Given the description of an element on the screen output the (x, y) to click on. 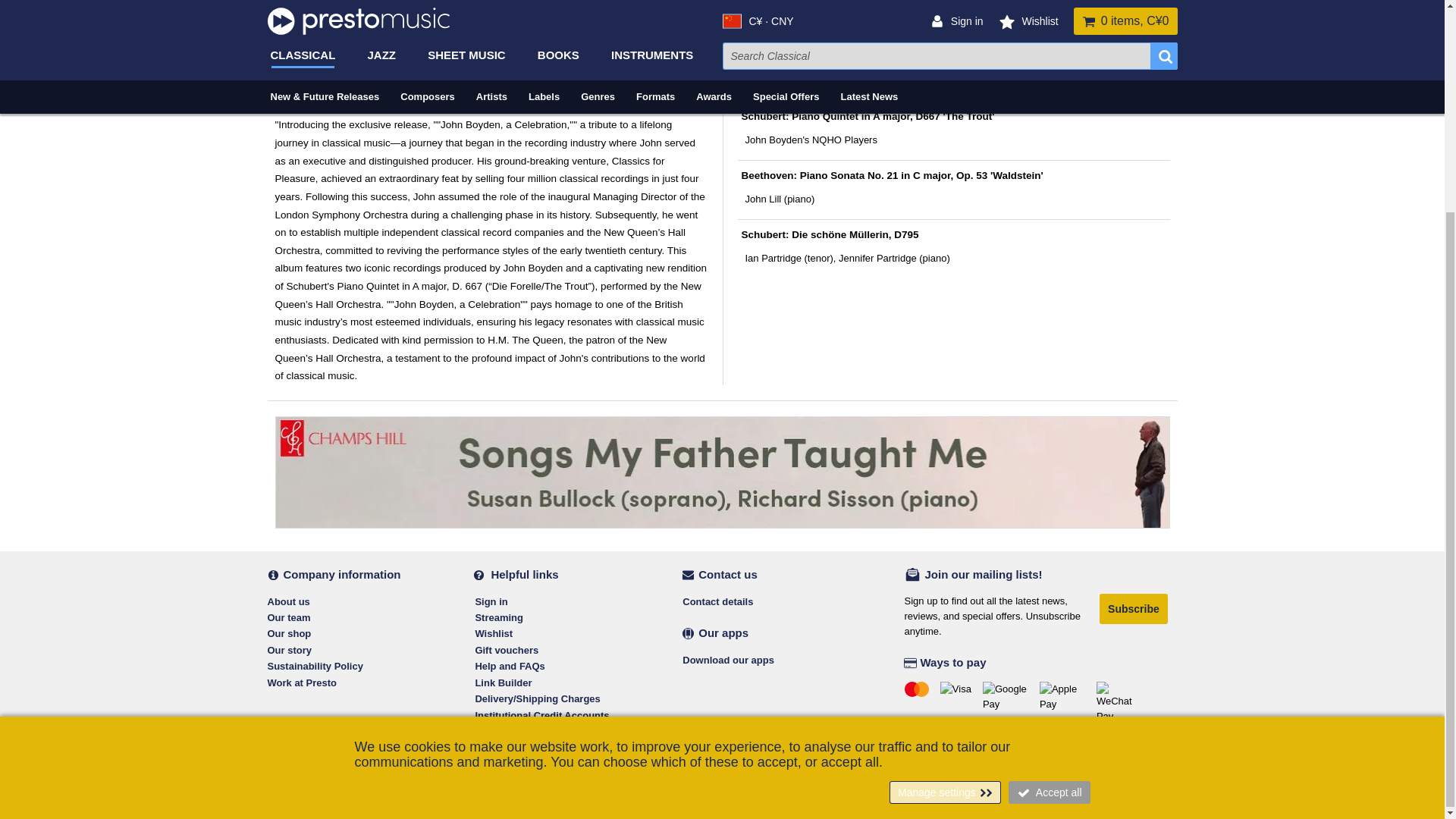
Follow us on Facebook (281, 739)
Follow us on Instagram (342, 739)
Subscribe to our YouTube channel (373, 739)
Follow us on Twitter (312, 739)
Help (1387, 482)
View enlarged product image (370, 21)
